Given the description of an element on the screen output the (x, y) to click on. 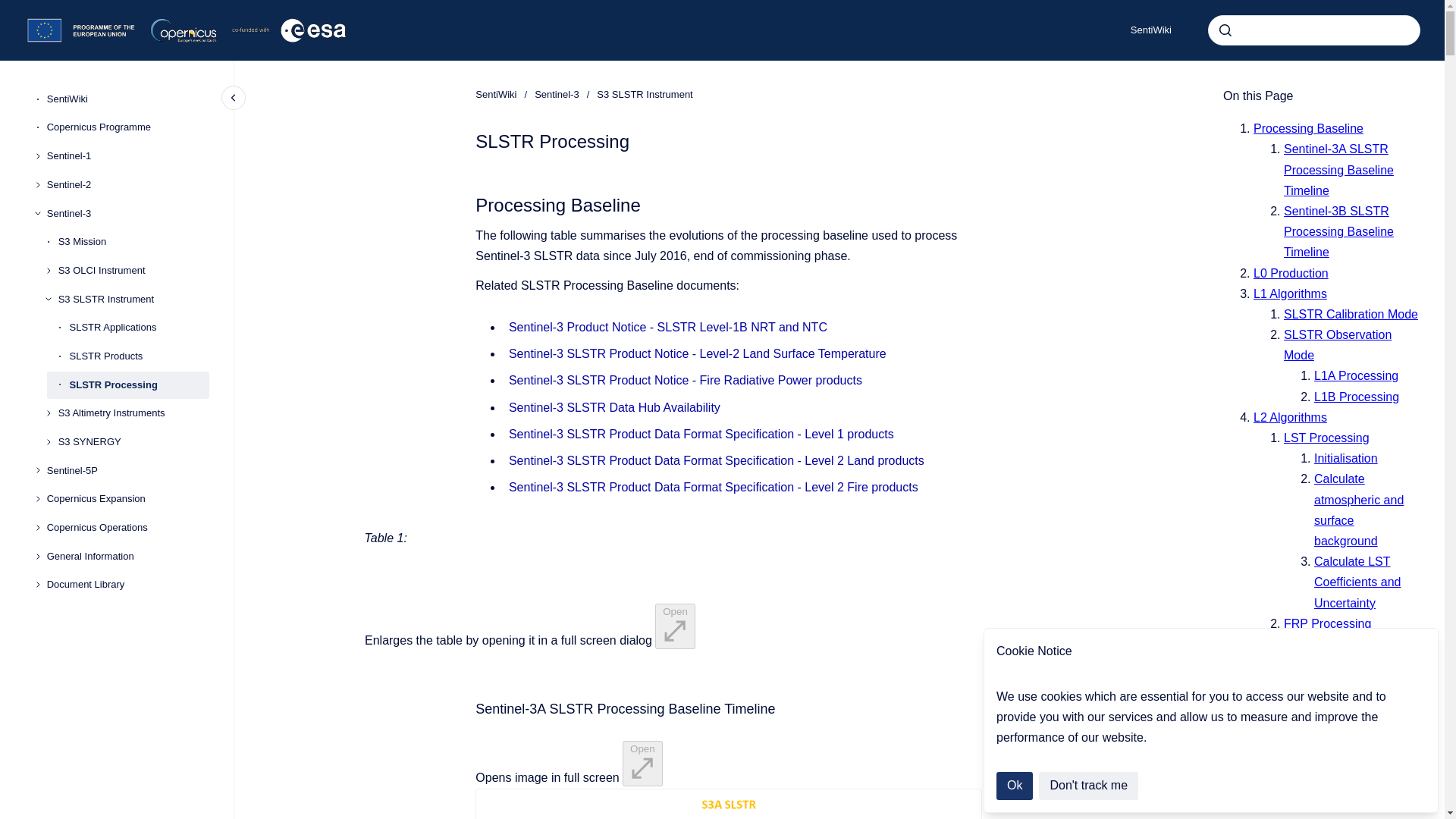
SLSTR Applications (139, 327)
Copernicus Expansion (127, 499)
Document Library (127, 584)
S3 Mission (133, 241)
Copernicus Operations (127, 527)
Ok (1013, 786)
Copernicus Programme (127, 127)
S3 OLCI Instrument (133, 270)
SentiWiki (1150, 29)
SentiWiki (496, 94)
